Given the description of an element on the screen output the (x, y) to click on. 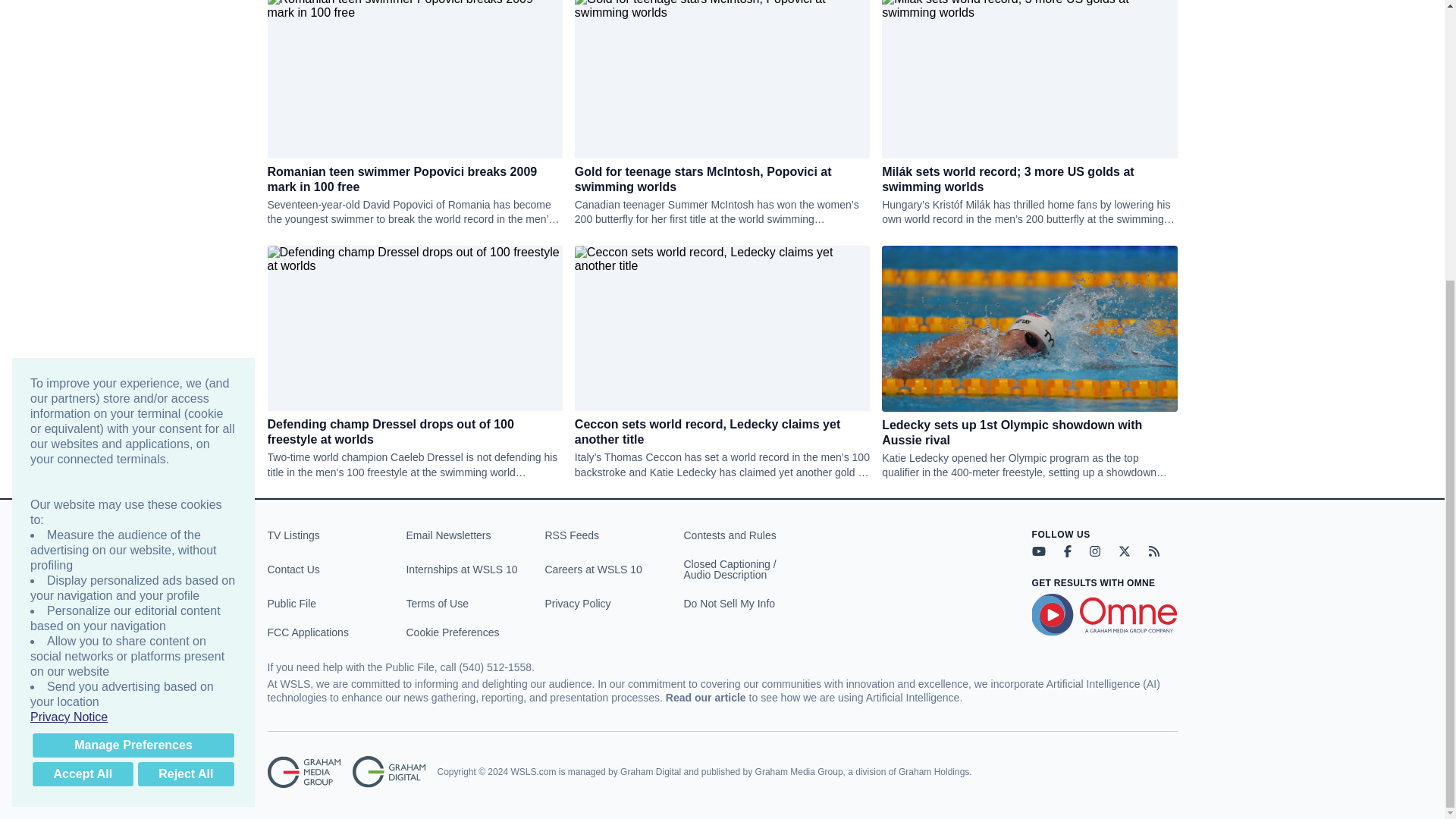
Defending champ Dressel drops out of 100 freestyle at worlds (414, 431)
Manage Preferences (133, 326)
Accept All (82, 355)
Ceccon sets world record, Ledecky claims yet another title (722, 431)
Ledecky sets up 1st Olympic showdown with Aussie rival (1029, 431)
Romanian teen swimmer Popovici breaks 2009 mark in 100 free (414, 179)
Reject All (185, 355)
youtube (1037, 551)
twitter (1123, 551)
